Given the description of an element on the screen output the (x, y) to click on. 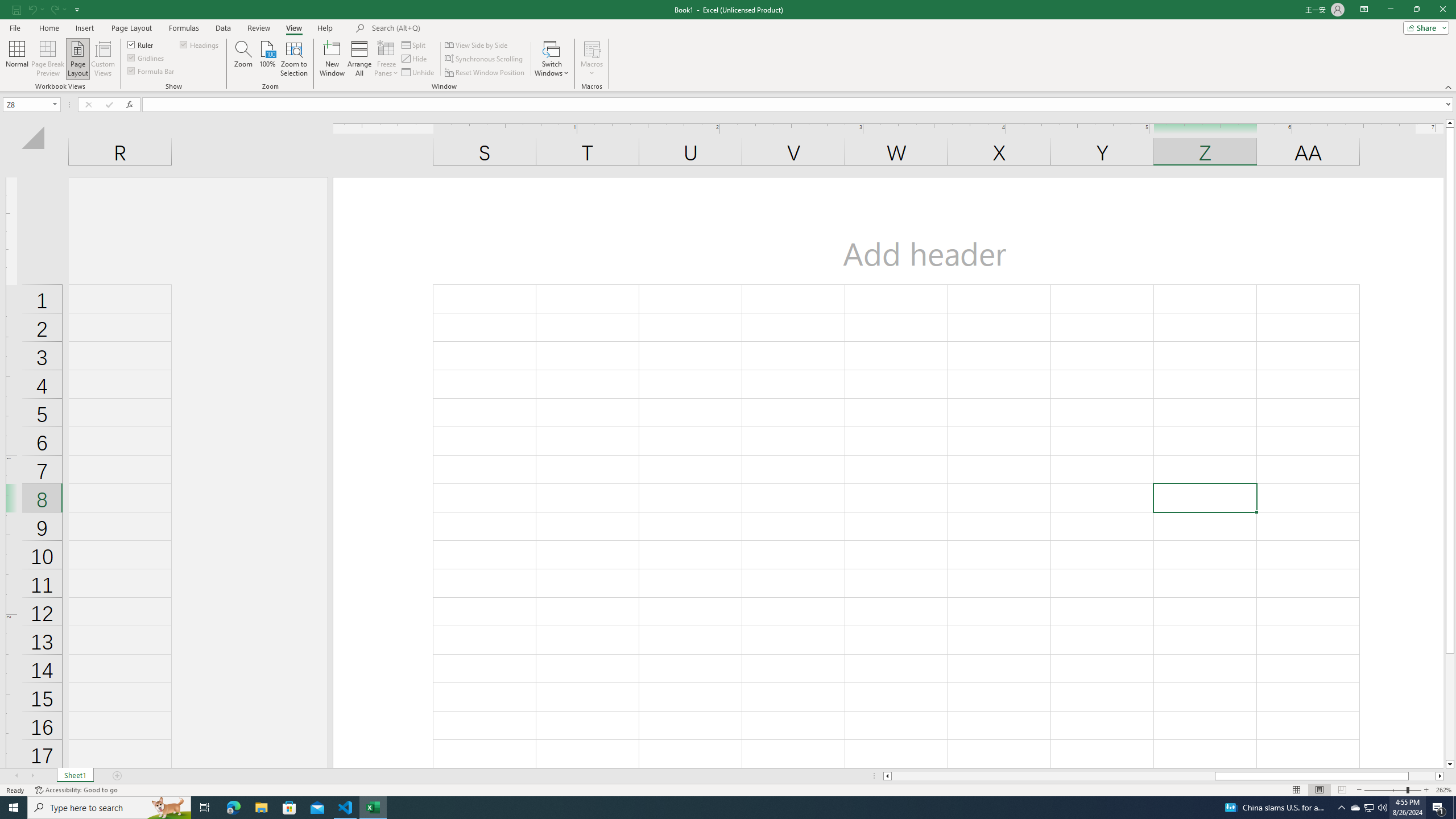
Reset Window Position (485, 72)
Freeze Panes (386, 58)
Zoom... (242, 58)
Synchronous Scrolling (484, 58)
